Given the description of an element on the screen output the (x, y) to click on. 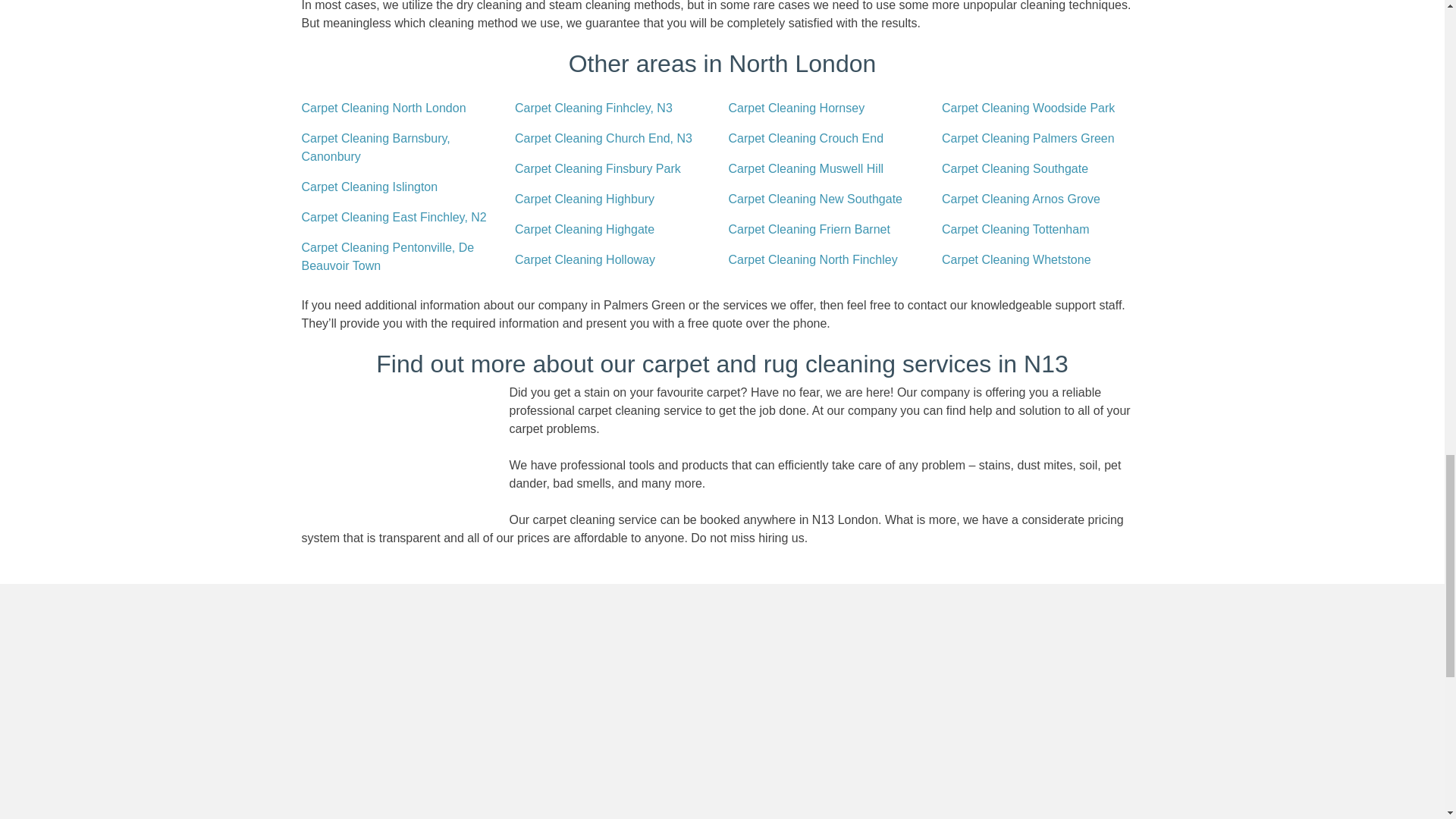
Carpet Cleaning Islington (369, 187)
Carpet Cleaning Crouch End (805, 138)
Carpet Cleaning Finsbury Park (598, 168)
Carpet Cleaning East Finchley, N2 (393, 217)
Carpet Cleaning Finhcley, N3 (593, 108)
Carpet Cleaning Pentonville, De Beauvoir Town (402, 257)
Carpet Cleaning Friern Barnet (808, 229)
Carpet Cleaning Highbury (584, 199)
Carpet Cleaning North London (383, 108)
Carpet Cleaning Muswell Hill (805, 168)
Carpet Cleaning Holloway (585, 259)
Carpet Cleaning Woodside Park (1028, 108)
Carpet Cleaning North Finchley (812, 259)
Carpet Cleaning Church End, N3 (604, 138)
Carpet Cleaning Palmers Green (1028, 138)
